Given the description of an element on the screen output the (x, y) to click on. 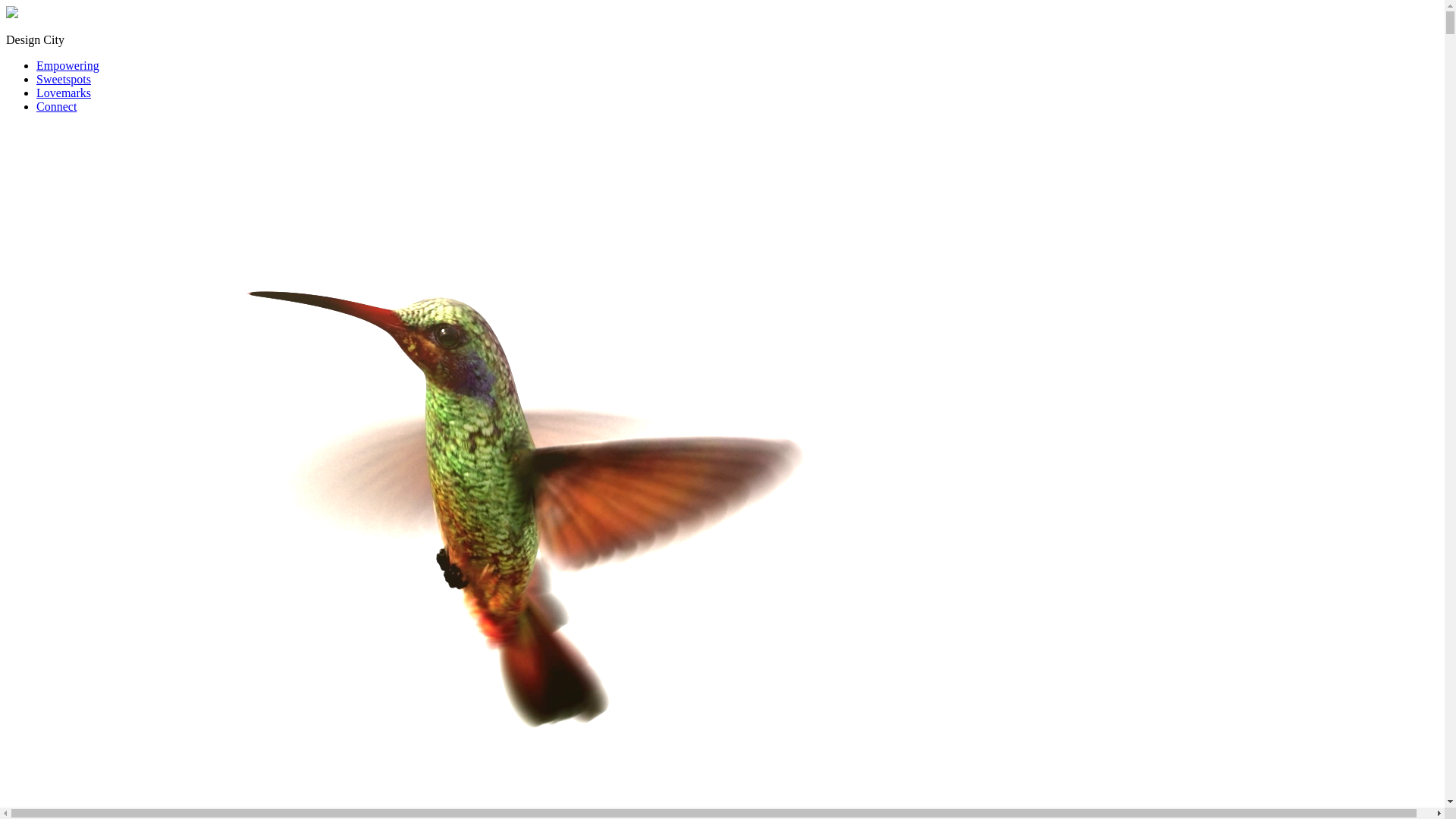
Connect Element type: text (56, 106)
Lovemarks Element type: text (63, 92)
Empowering Element type: text (67, 65)
Sweetspots Element type: text (63, 78)
